Given the description of an element on the screen output the (x, y) to click on. 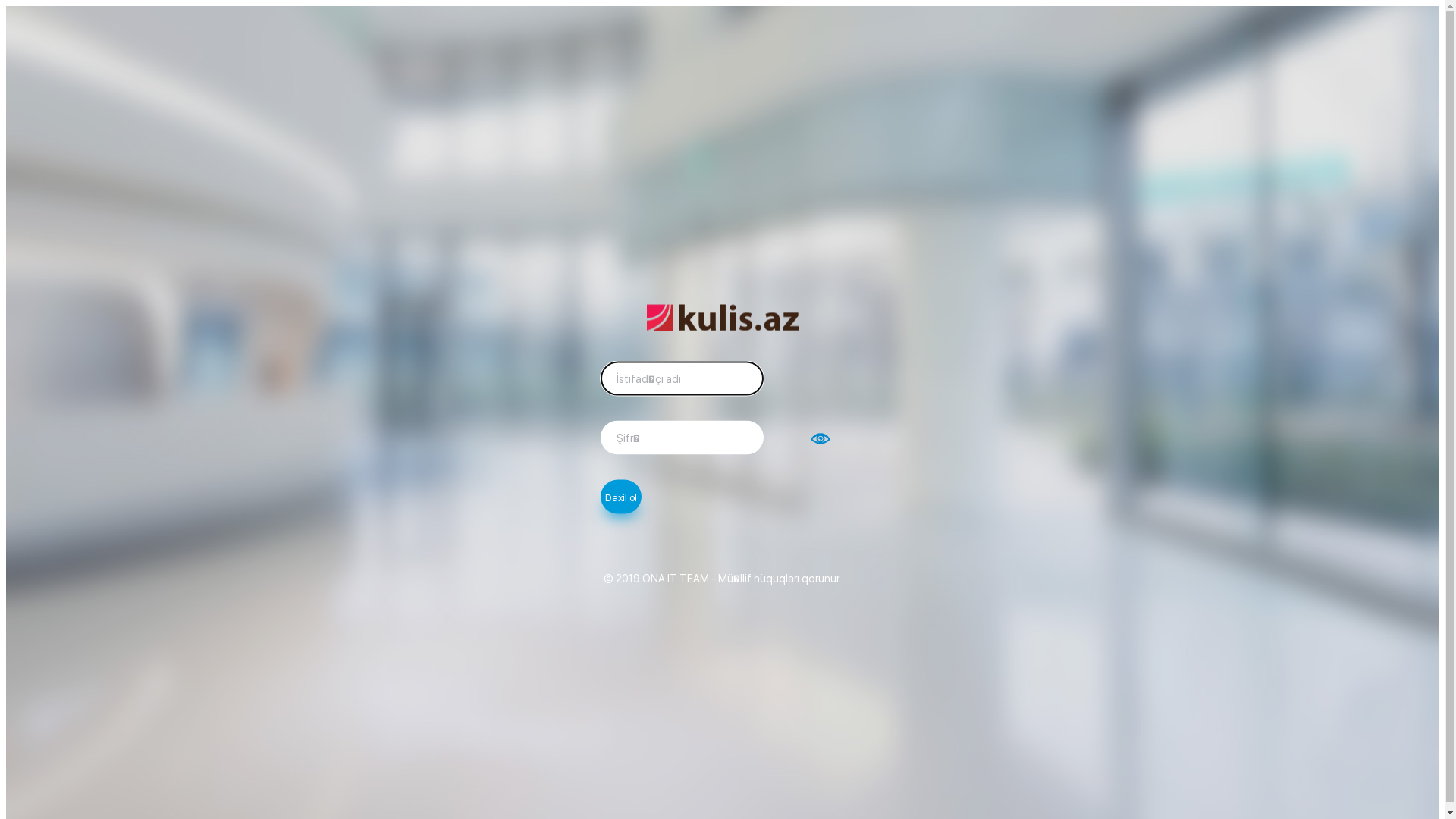
Daxil ol Element type: text (620, 496)
